Given the description of an element on the screen output the (x, y) to click on. 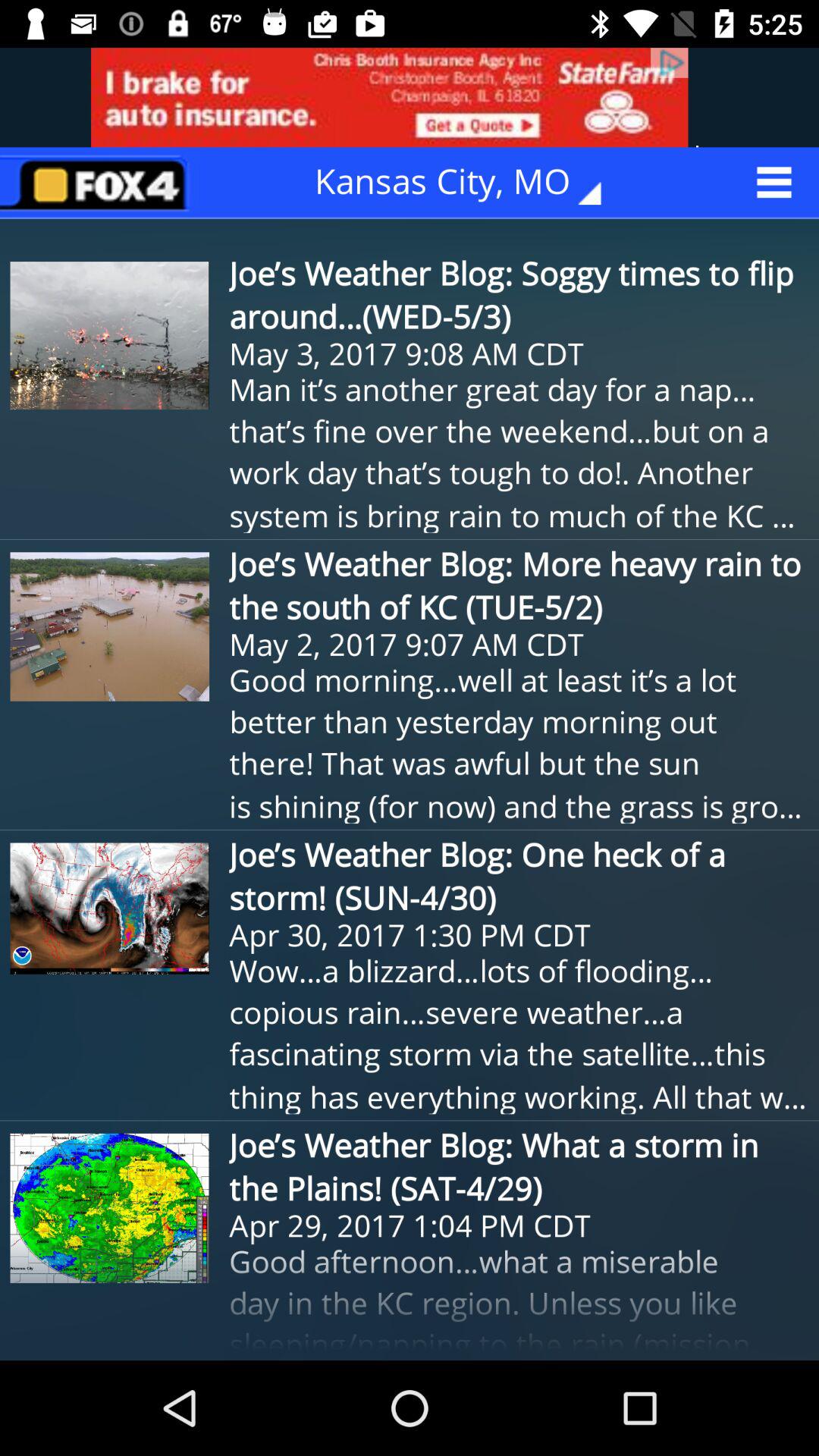
banner advertisement (409, 97)
